Given the description of an element on the screen output the (x, y) to click on. 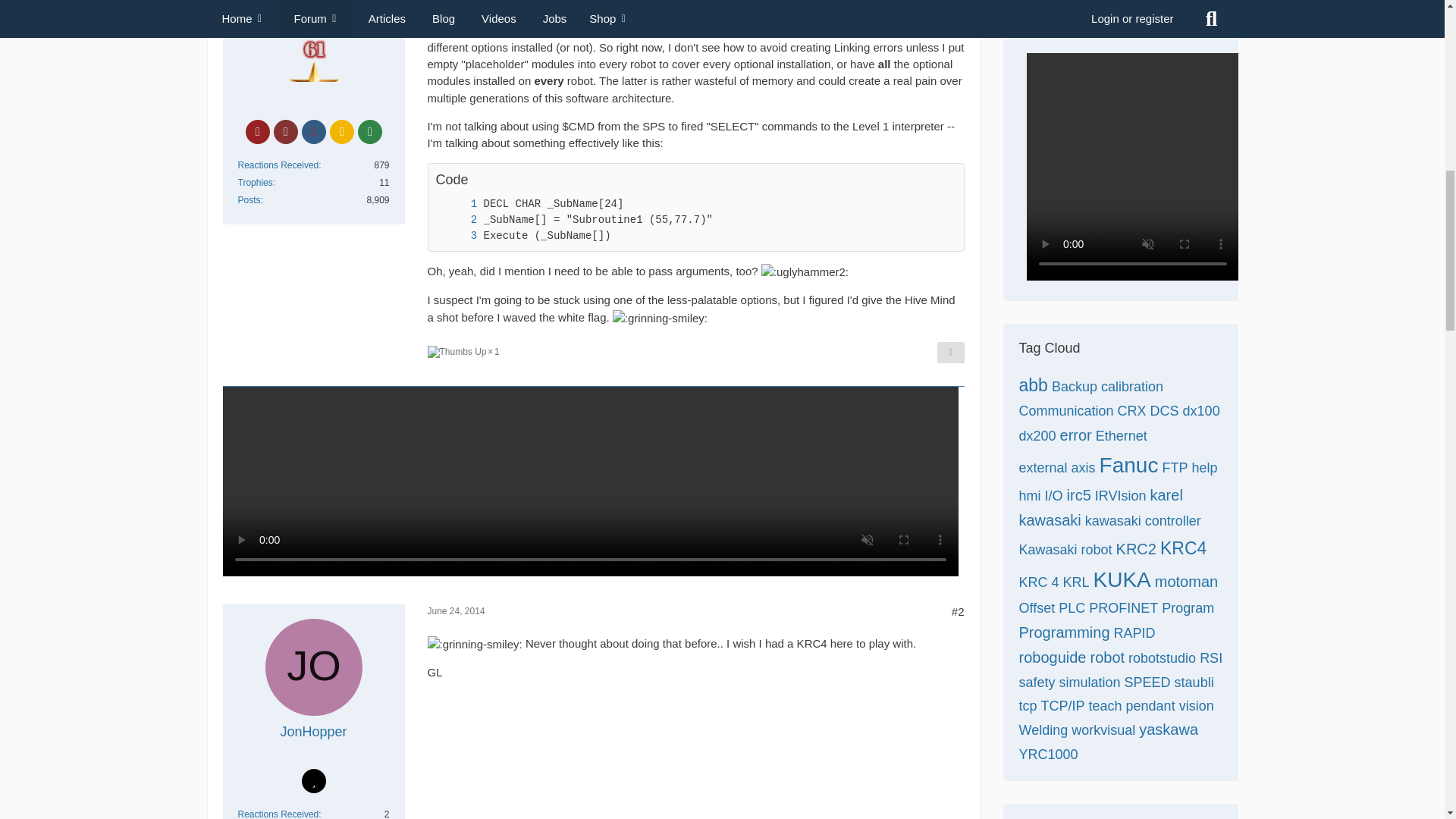
grinning (475, 644)
1 (458, 204)
ugly hammer (804, 271)
2 (458, 220)
SkyeFire is online (282, 3)
3 (458, 236)
grinning (659, 318)
